Given the description of an element on the screen output the (x, y) to click on. 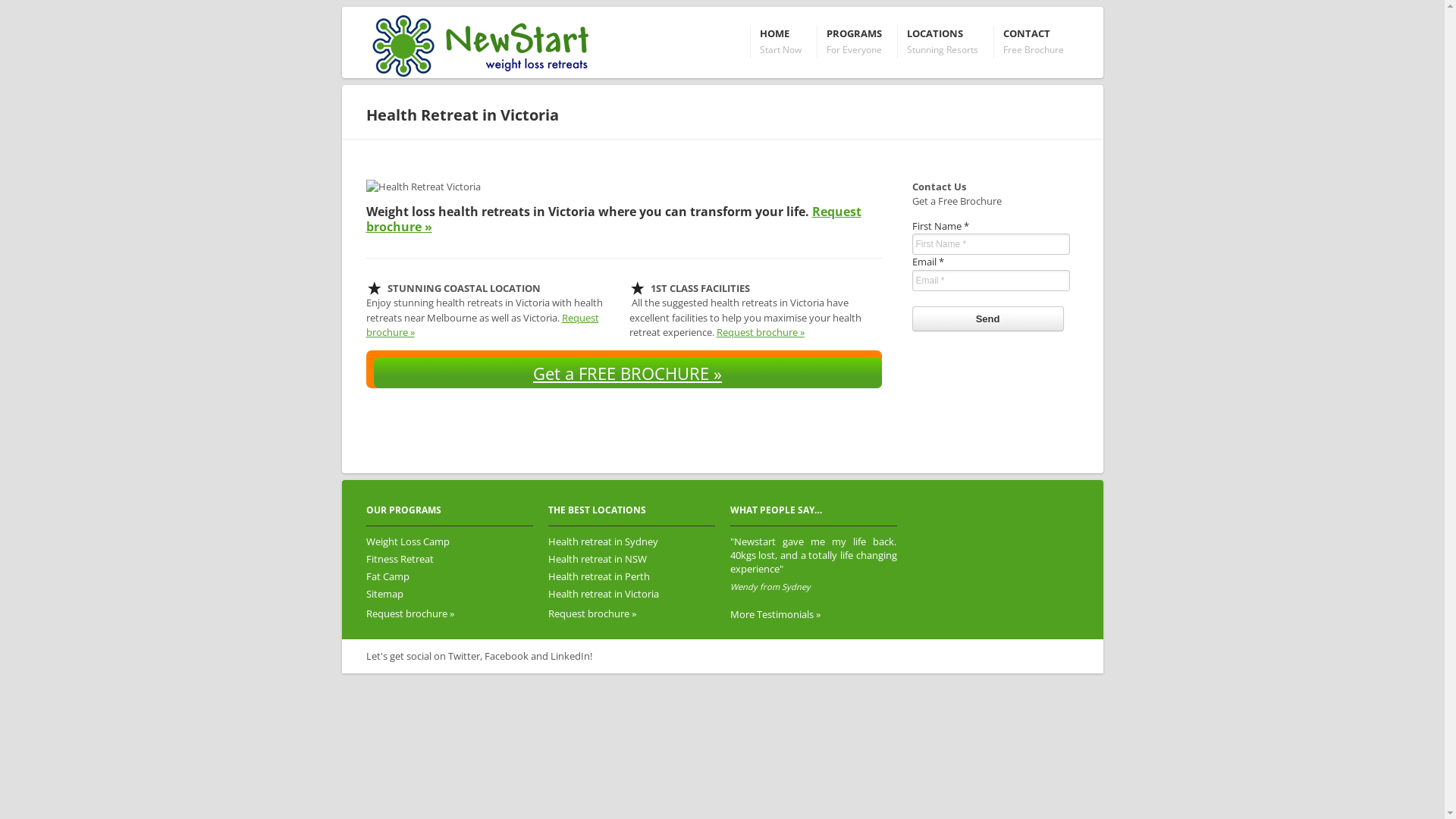
HOME
Start Now Element type: text (779, 41)
Health retreat in Perth Element type: text (598, 576)
Health retreat in Victoria Element type: text (602, 593)
Weight Loss Camp Element type: text (406, 541)
Health retreat in Sydney Element type: text (602, 541)
CONTACT
Free Brochure Element type: text (1033, 41)
Health retreat in NSW Element type: text (596, 558)
Sitemap Element type: text (383, 593)
PROGRAMS
For Everyone Element type: text (853, 41)
Send Element type: text (987, 318)
LOCATIONS
Stunning Resorts Element type: text (941, 41)
Fitness Retreat Element type: text (399, 558)
Fat Camp Element type: text (386, 576)
